Given the description of an element on the screen output the (x, y) to click on. 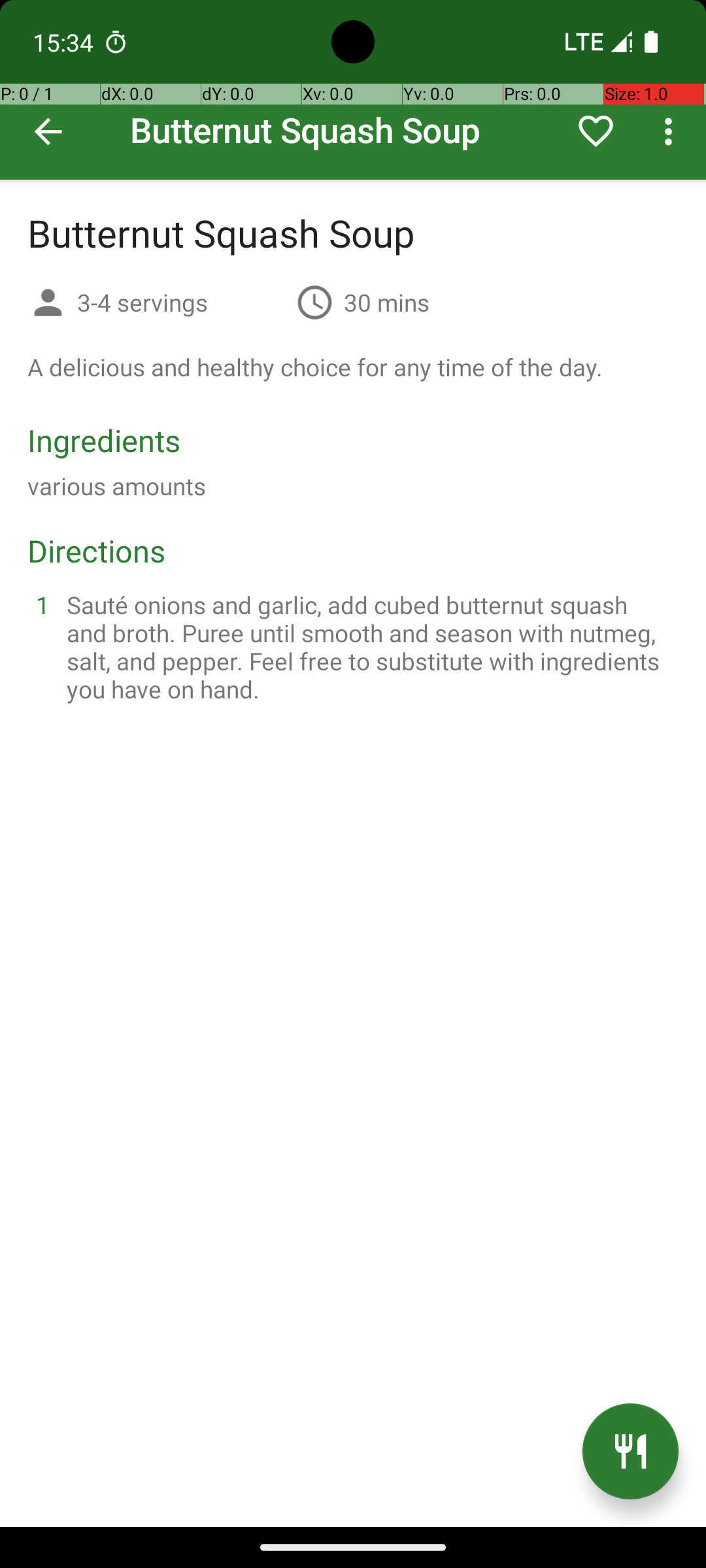
Sauté onions and garlic, add cubed butternut squash and broth. Puree until smooth and season with nutmeg, salt, and pepper. Feel free to substitute with ingredients you have on hand. Element type: android.widget.TextView (368, 646)
